Given the description of an element on the screen output the (x, y) to click on. 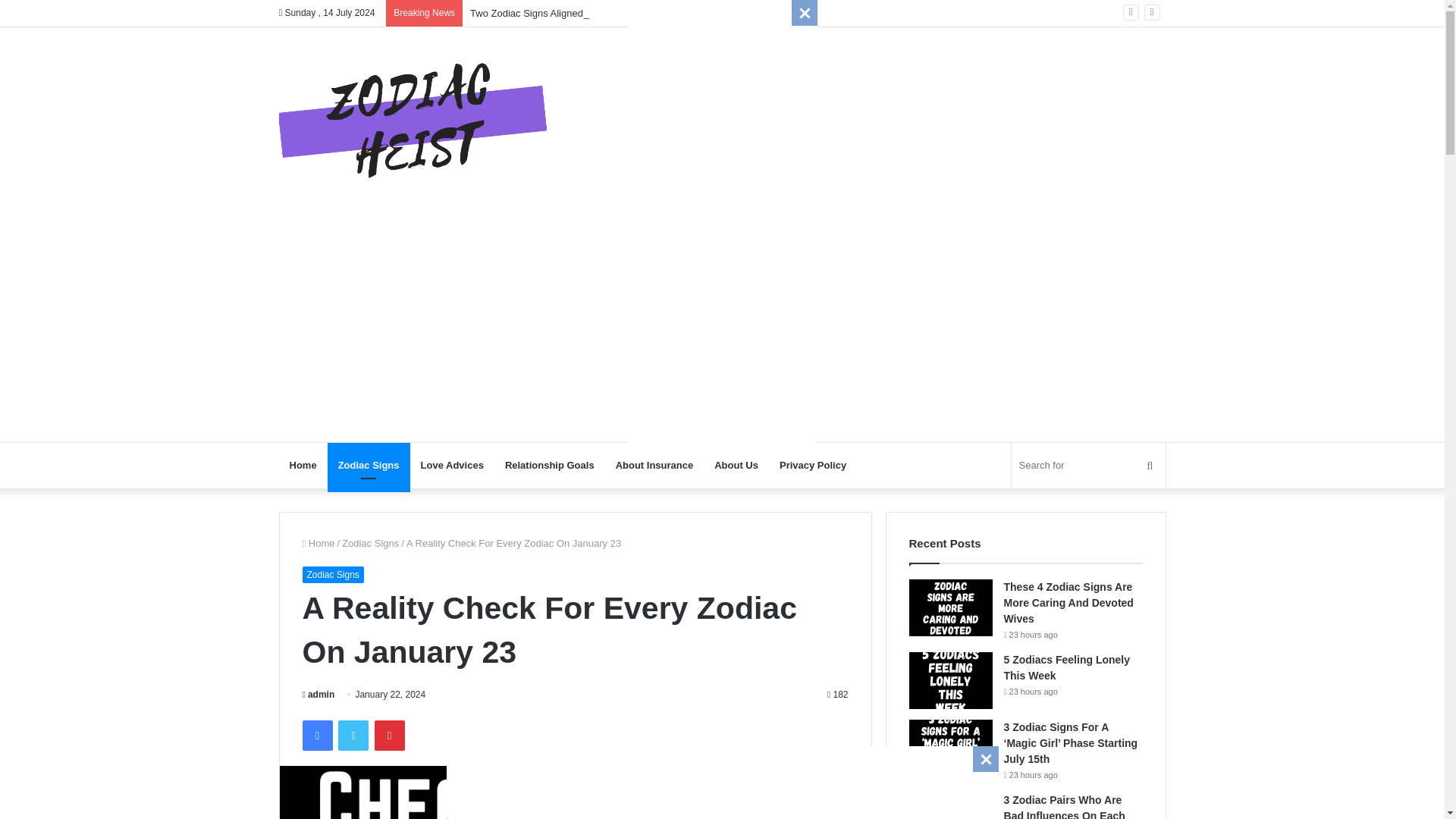
admin (317, 694)
Home (317, 542)
Facebook (316, 735)
Pinterest (389, 735)
Two Zodiac Signs Aligned with Their Spirit Guides (578, 12)
Facebook (316, 735)
Search for (1088, 465)
About Insurance (654, 465)
Advertisement (721, 227)
Love Advices (452, 465)
Pinterest (389, 735)
About Us (735, 465)
Zodiac Signs (370, 542)
Twitter (352, 735)
